Given the description of an element on the screen output the (x, y) to click on. 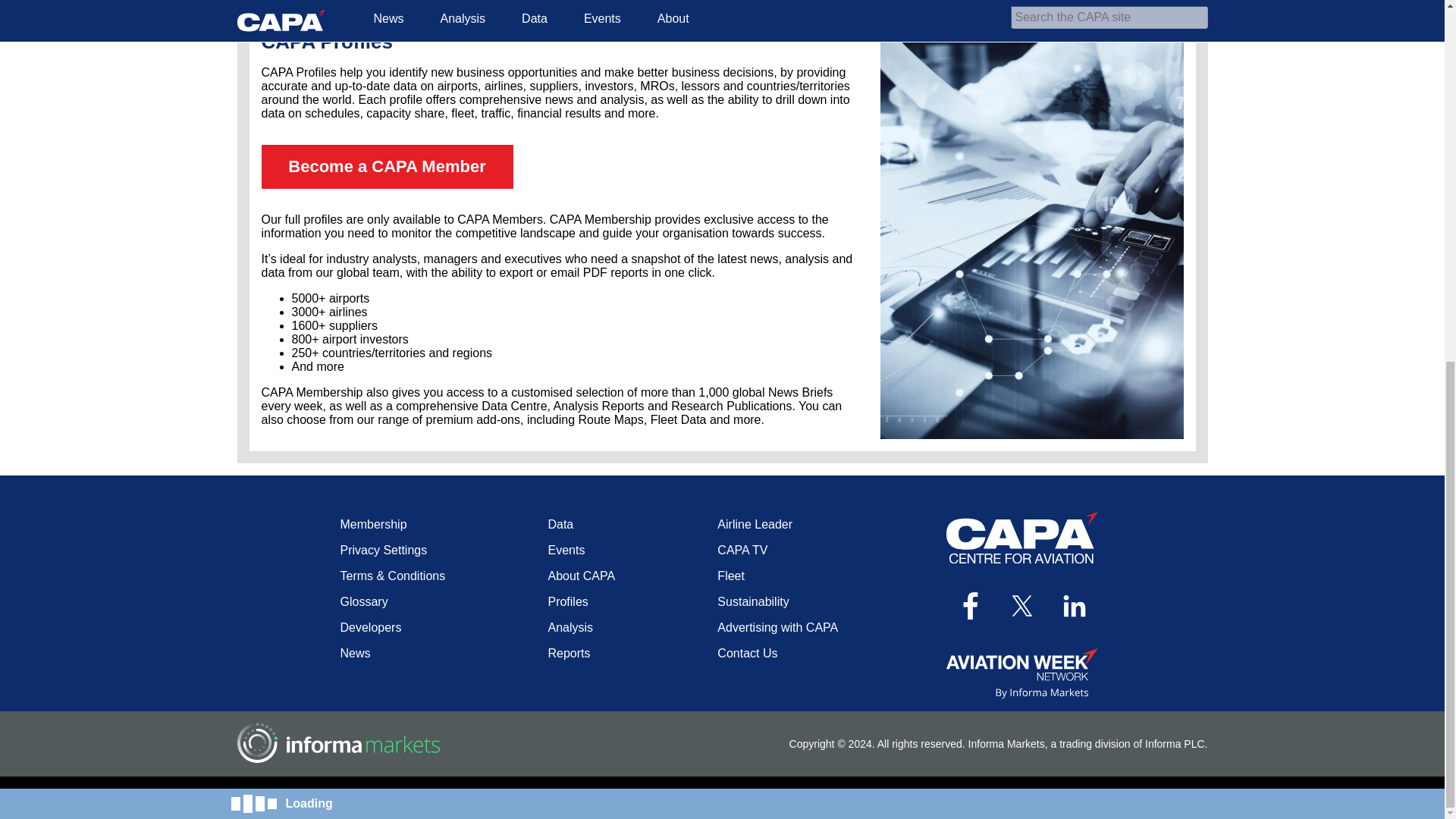
Become a CAPA Member (386, 166)
CAPA - Centre for Aviation (1021, 537)
CAPA is part of the Aviation Week Network (1021, 673)
CAPA on Facebook (970, 606)
Membership (372, 523)
Privacy Settings (382, 549)
CAPA is part of the Aviation Week Network (1021, 673)
CAPA on Twitter (1022, 606)
CAPA on LinkedIn (1075, 606)
